Given the description of an element on the screen output the (x, y) to click on. 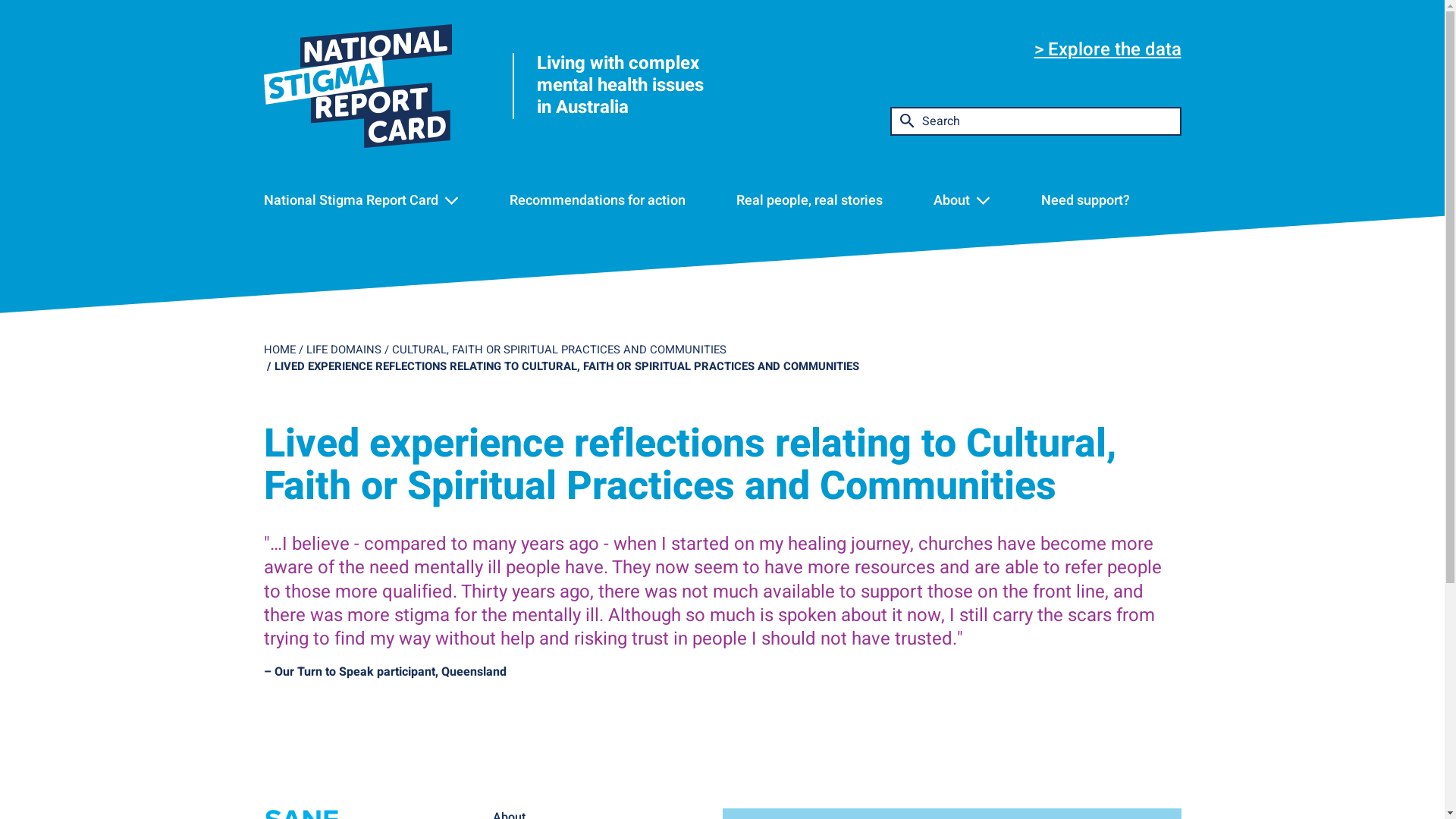
Skip to content Element type: text (0, 0)
Search Element type: text (907, 186)
Real people, real stories Element type: text (809, 200)
Recommendations for action Element type: text (597, 200)
LIFE DOMAINS Element type: text (343, 349)
Need support? Element type: text (1085, 200)
CULTURAL, FAITH OR SPIRITUAL PRACTICES AND COMMUNITIES Element type: text (558, 349)
About Element type: text (951, 200)
HOME Element type: text (279, 349)
> Explore the data Element type: text (1107, 49)
National Stigma Report Card Element type: text (350, 200)
